Given the description of an element on the screen output the (x, y) to click on. 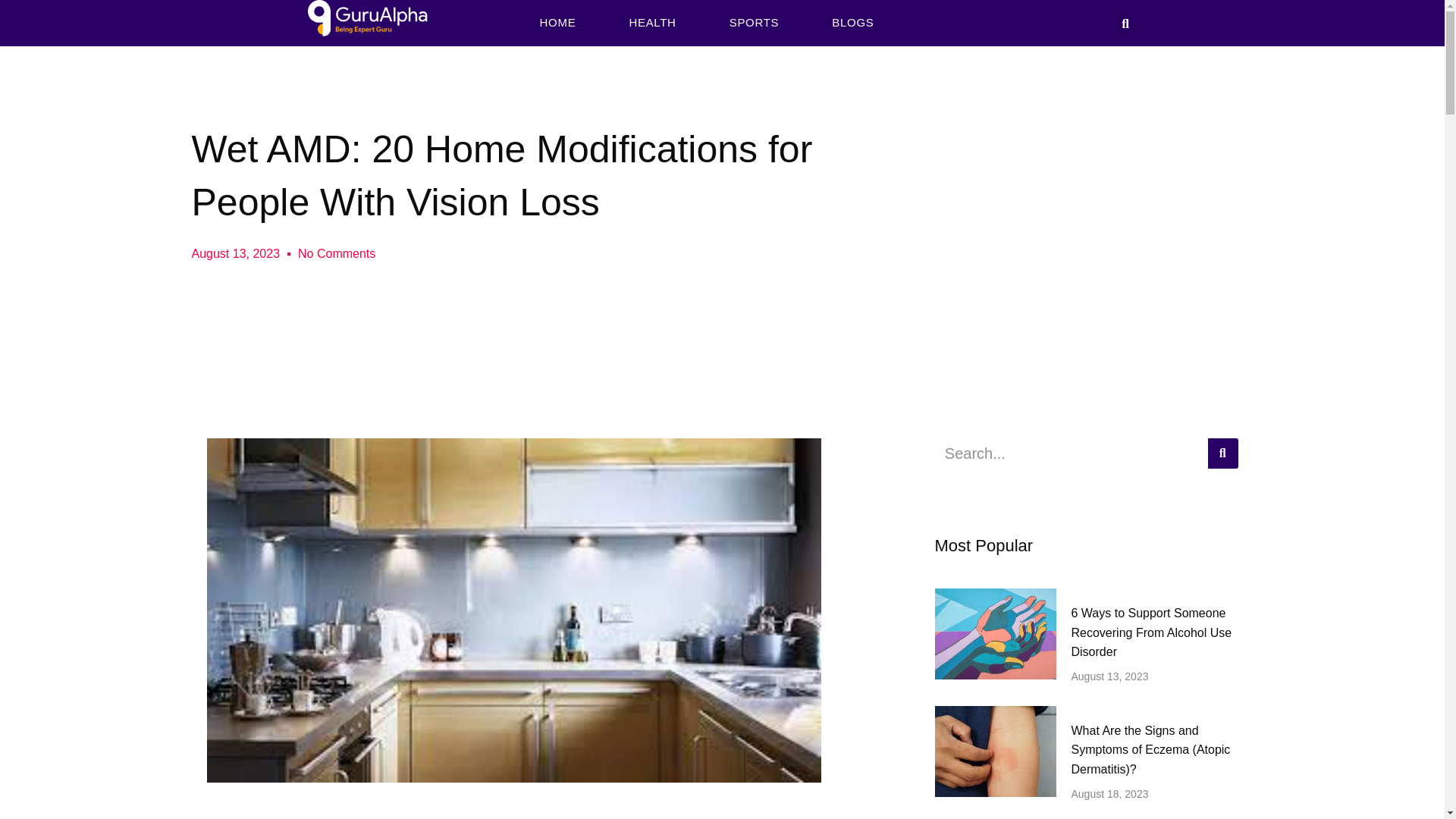
HOME (557, 22)
SPORTS (754, 22)
No Comments (336, 253)
August 13, 2023 (234, 253)
BLOGS (852, 22)
HEALTH (651, 22)
